Given the description of an element on the screen output the (x, y) to click on. 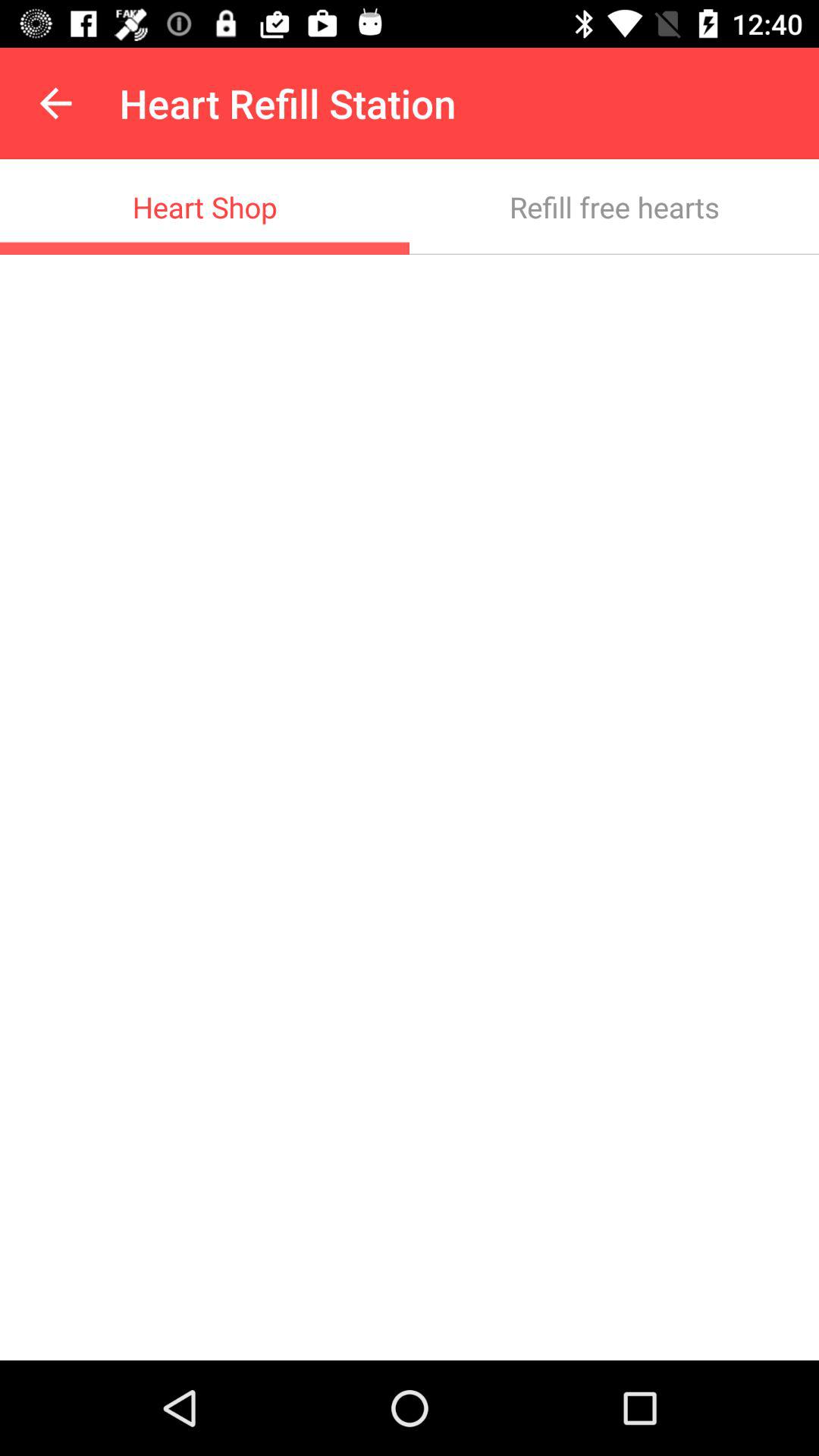
tap item to the left of the refill free hearts (204, 206)
